Given the description of an element on the screen output the (x, y) to click on. 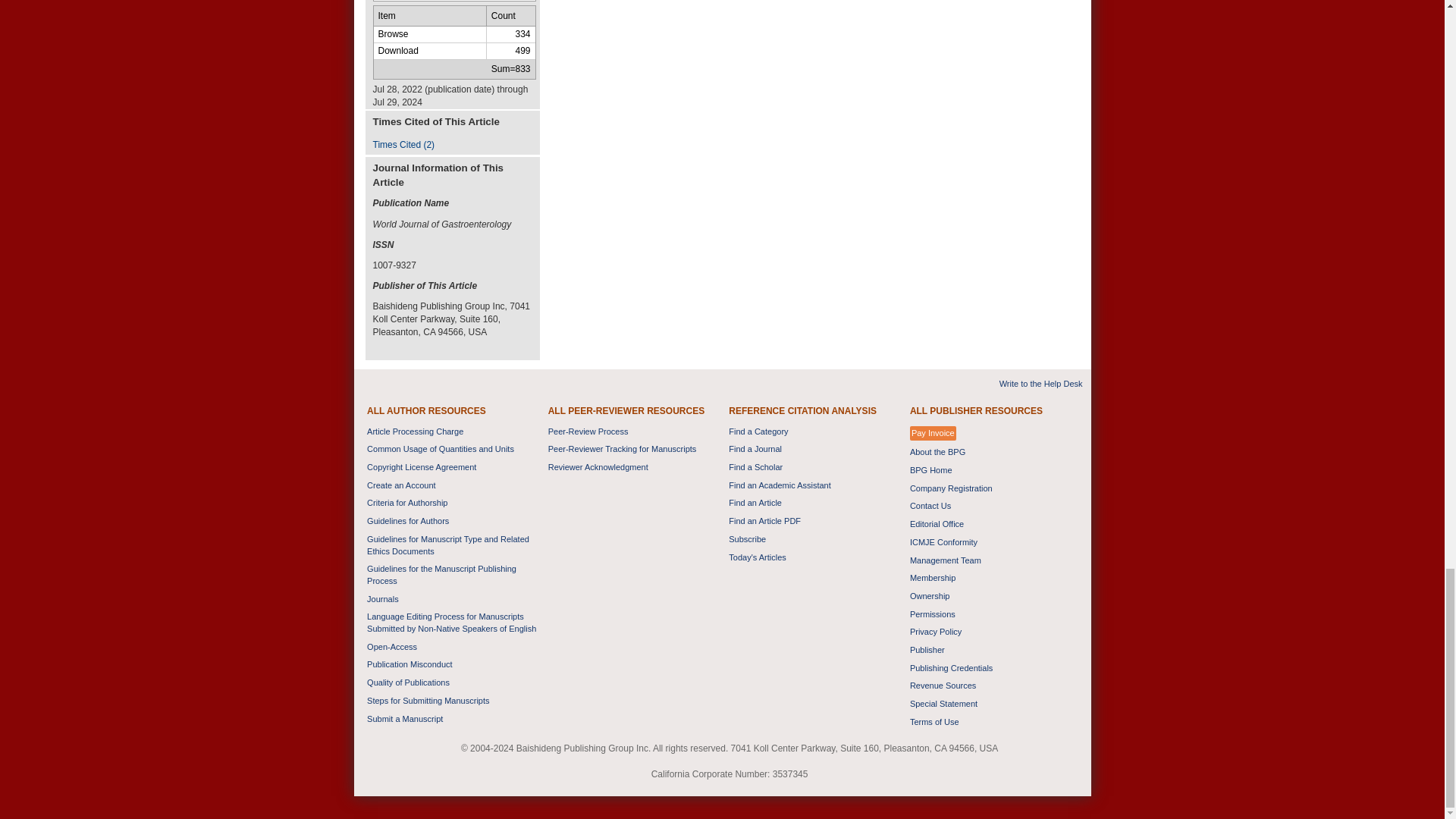
Pay Invoice (933, 433)
